Given the description of an element on the screen output the (x, y) to click on. 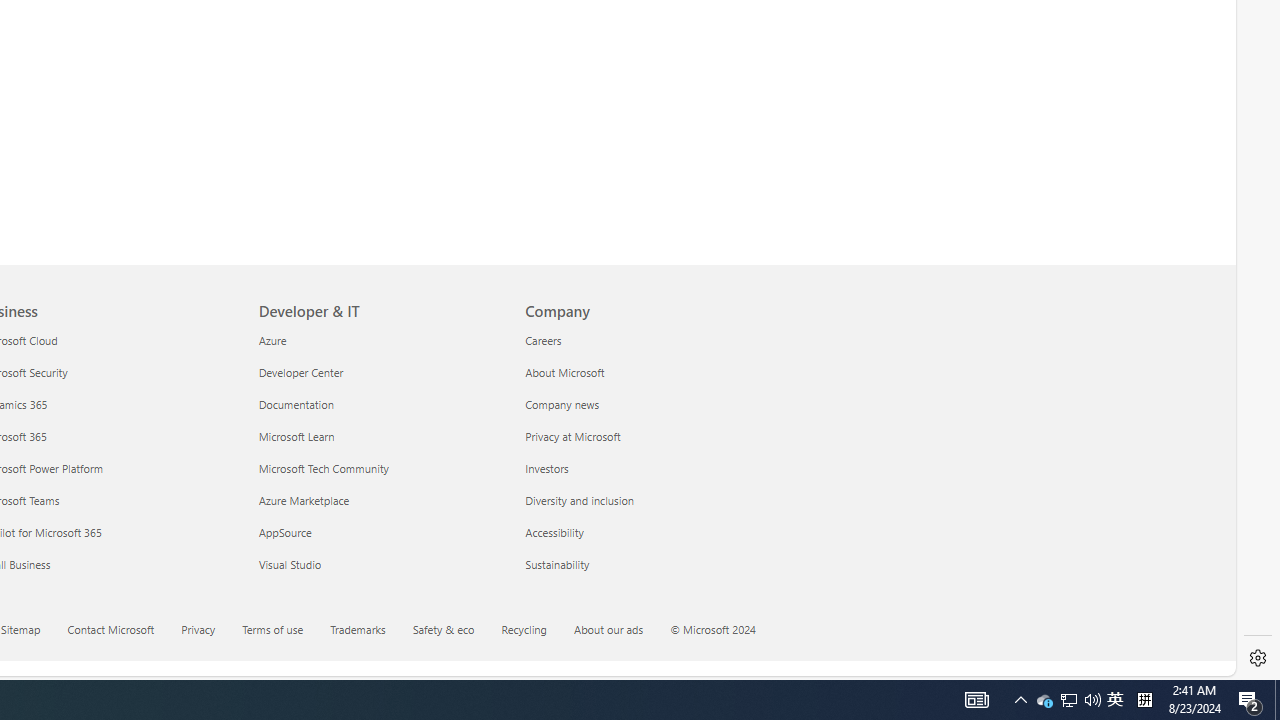
About Microsoft Company (564, 372)
About Microsoft (646, 371)
Privacy (198, 628)
AppSource (379, 532)
Azure Marketplace Developer & IT (303, 499)
